Given the description of an element on the screen output the (x, y) to click on. 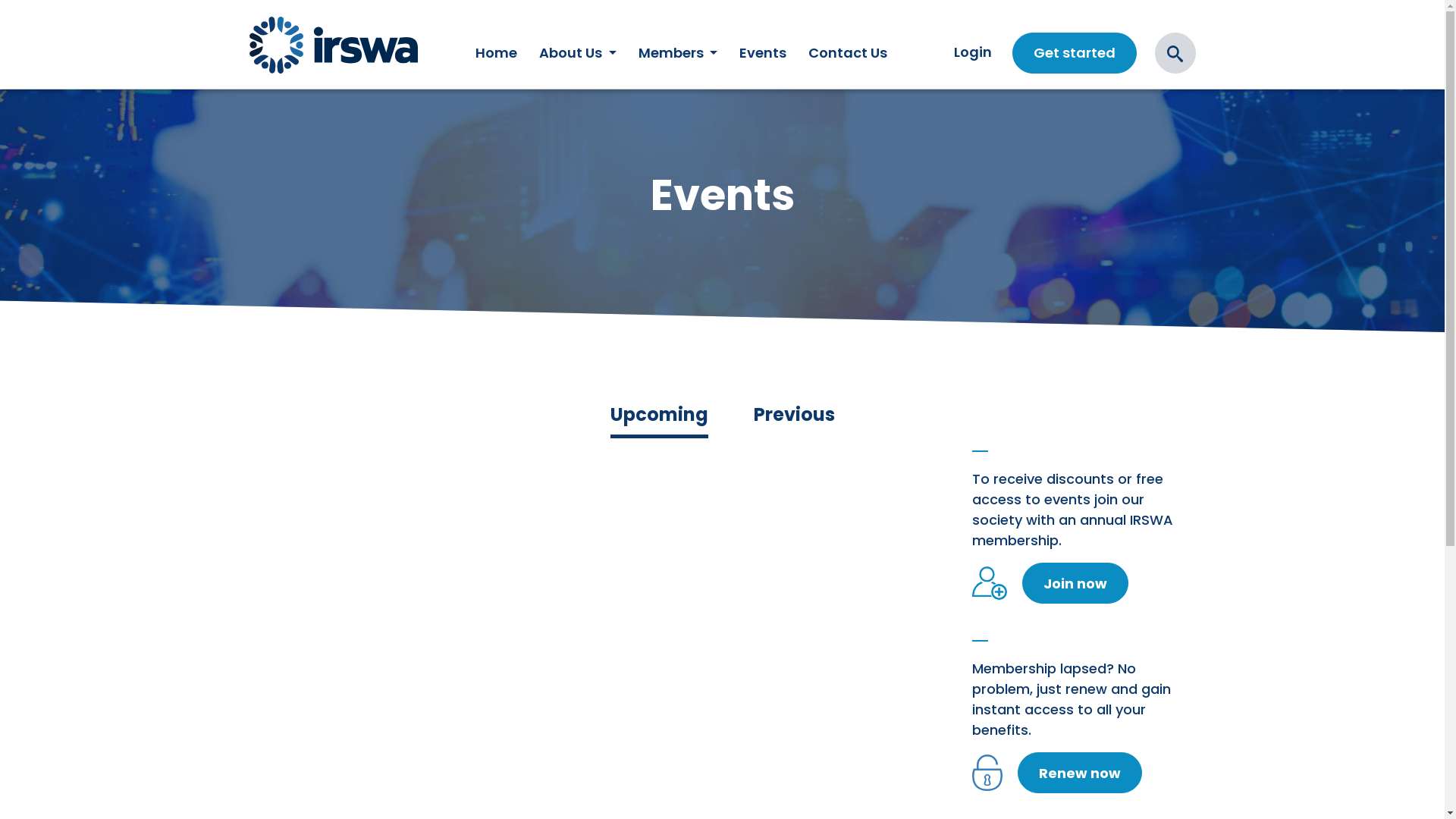
Login Element type: text (971, 52)
Upcoming Element type: text (658, 416)
Members Element type: text (677, 52)
About Us Element type: text (577, 52)
Events Element type: text (762, 52)
Contact Us Element type: text (847, 52)
Previous Element type: text (793, 414)
Home Element type: text (496, 52)
Renew now Element type: text (1079, 772)
Join now Element type: text (1075, 582)
Get started Element type: text (1073, 52)
